Given the description of an element on the screen output the (x, y) to click on. 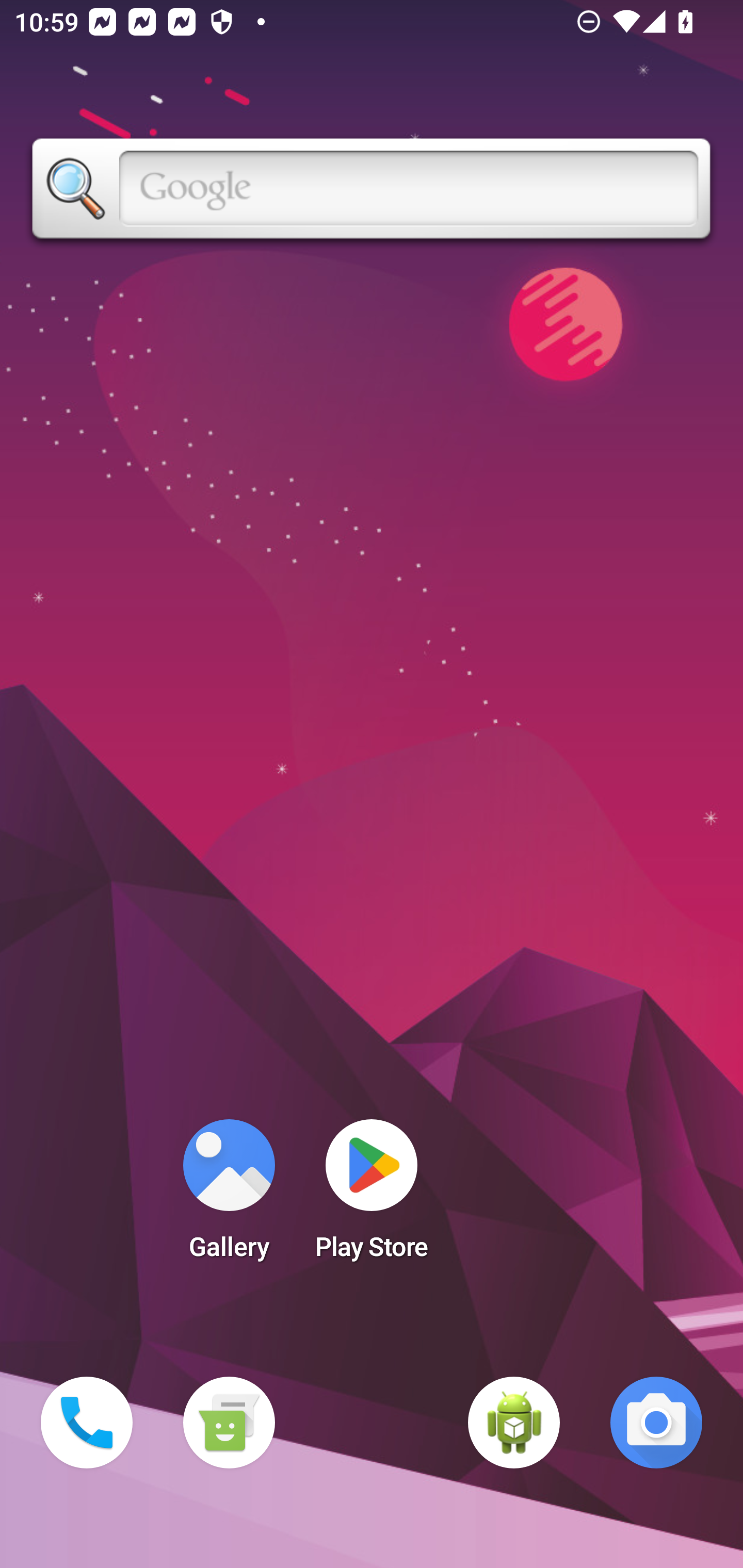
Gallery (228, 1195)
Play Store (371, 1195)
Phone (86, 1422)
Messaging (228, 1422)
WebView Browser Tester (513, 1422)
Camera (656, 1422)
